Given the description of an element on the screen output the (x, y) to click on. 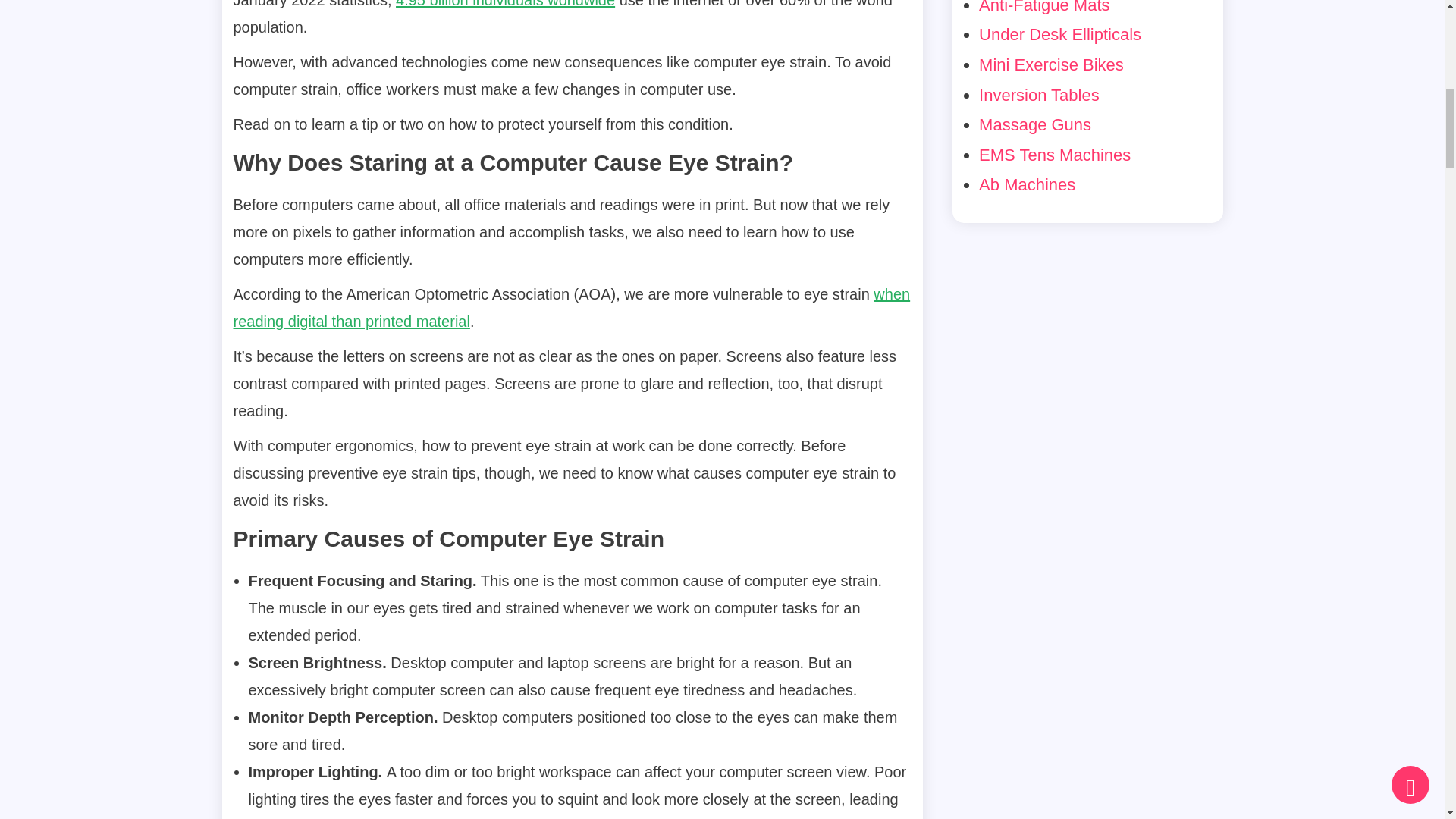
when reading digital than printed material (571, 307)
4.95 billion individuals worldwide (505, 4)
